Given the description of an element on the screen output the (x, y) to click on. 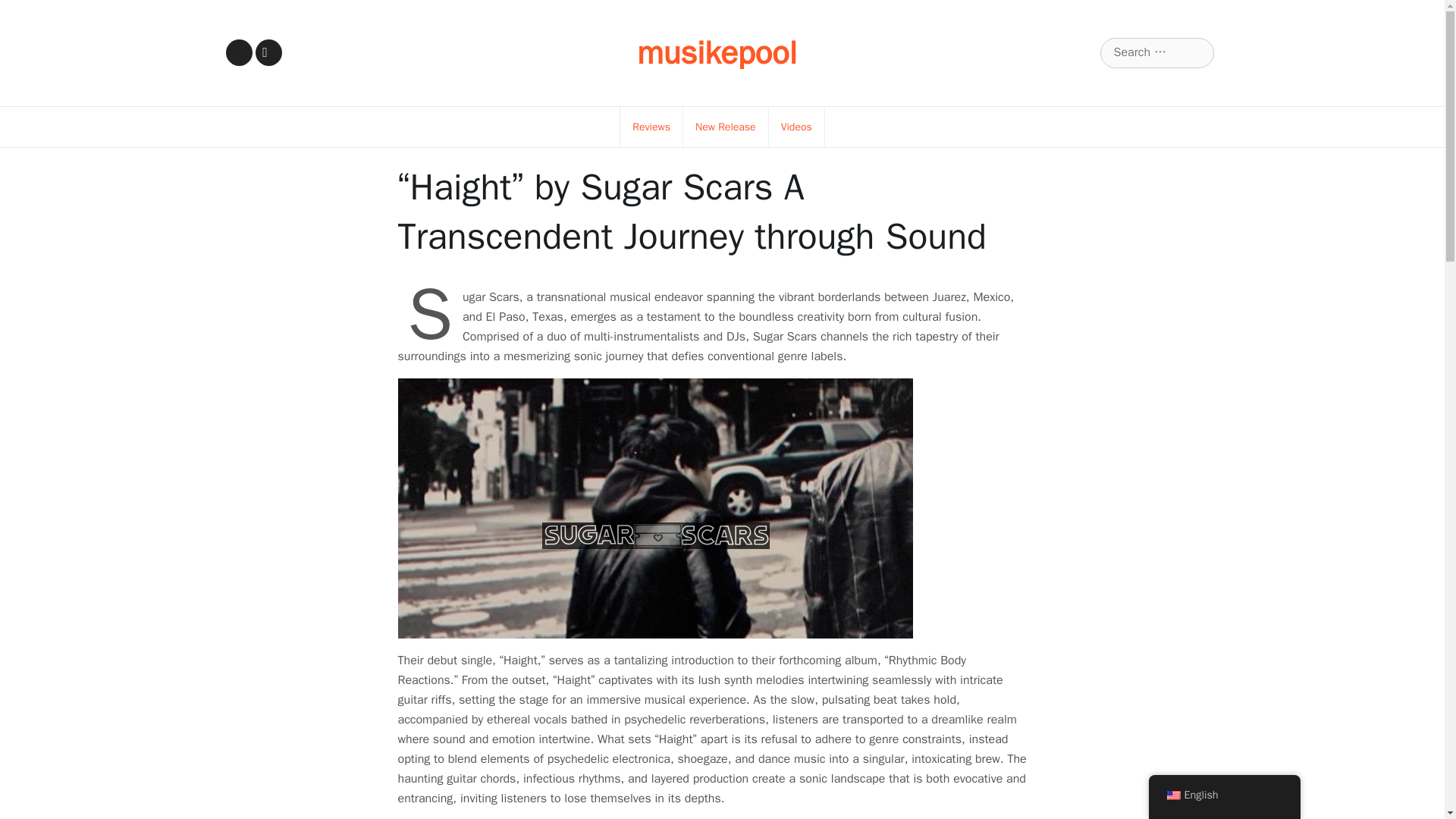
Search (31, 12)
Reviews (650, 127)
Menu Item (269, 52)
New Release (725, 127)
English (1172, 795)
Menu Item (238, 52)
musikepool (716, 52)
